Given the description of an element on the screen output the (x, y) to click on. 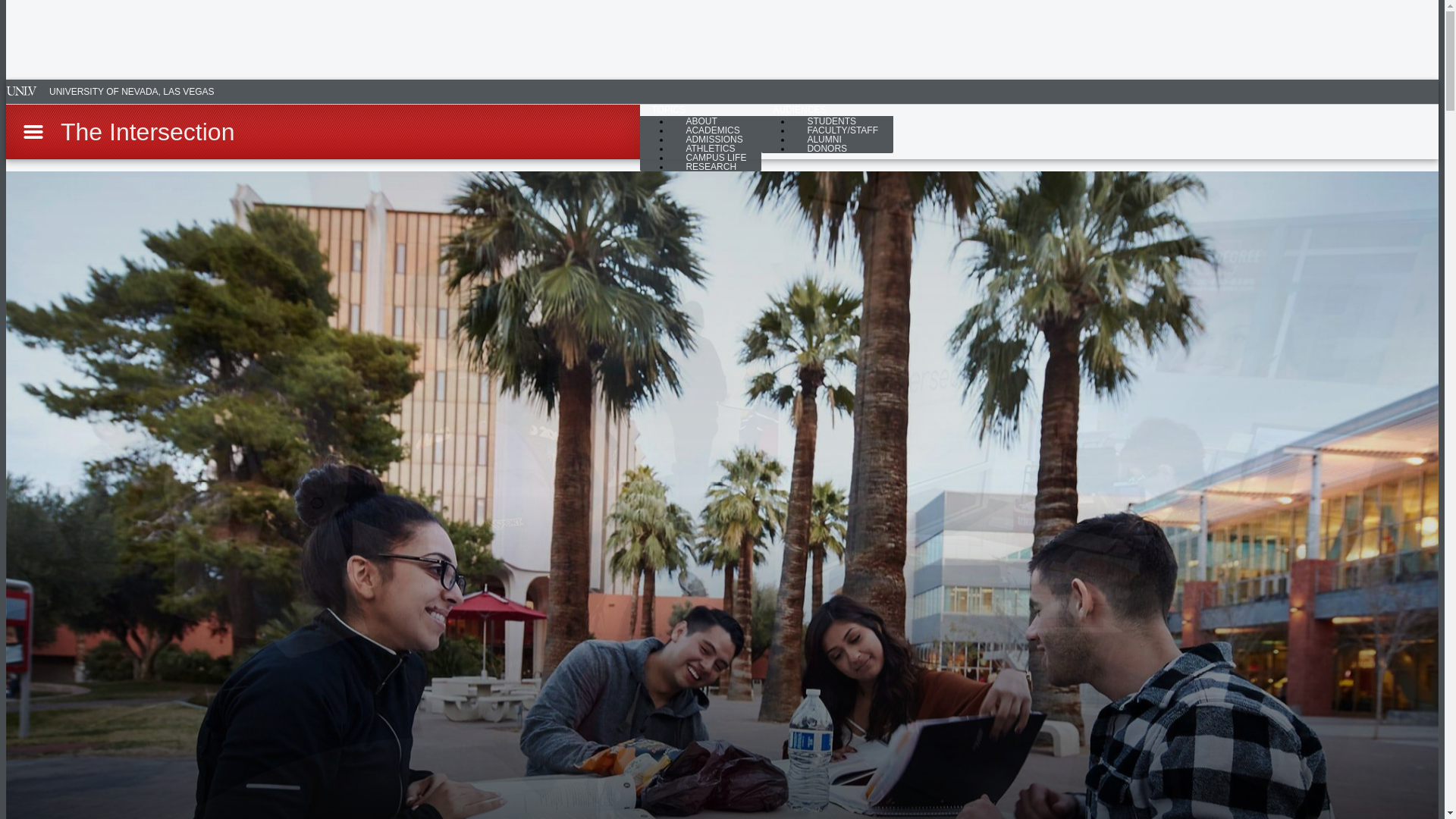
UNIVERSITY OF NEVADA, LAS VEGAS (112, 91)
AUDIENCES (799, 109)
CAMPUS LIFE (715, 157)
ALUMNI (824, 139)
ABOUT (700, 121)
DONORS (826, 148)
The Intersection (146, 131)
TOPICS (668, 109)
ADMISSIONS (713, 139)
ACADEMICS (711, 130)
ATHLETICS (709, 148)
RESEARCH (710, 166)
STUDENTS (831, 121)
